Given the description of an element on the screen output the (x, y) to click on. 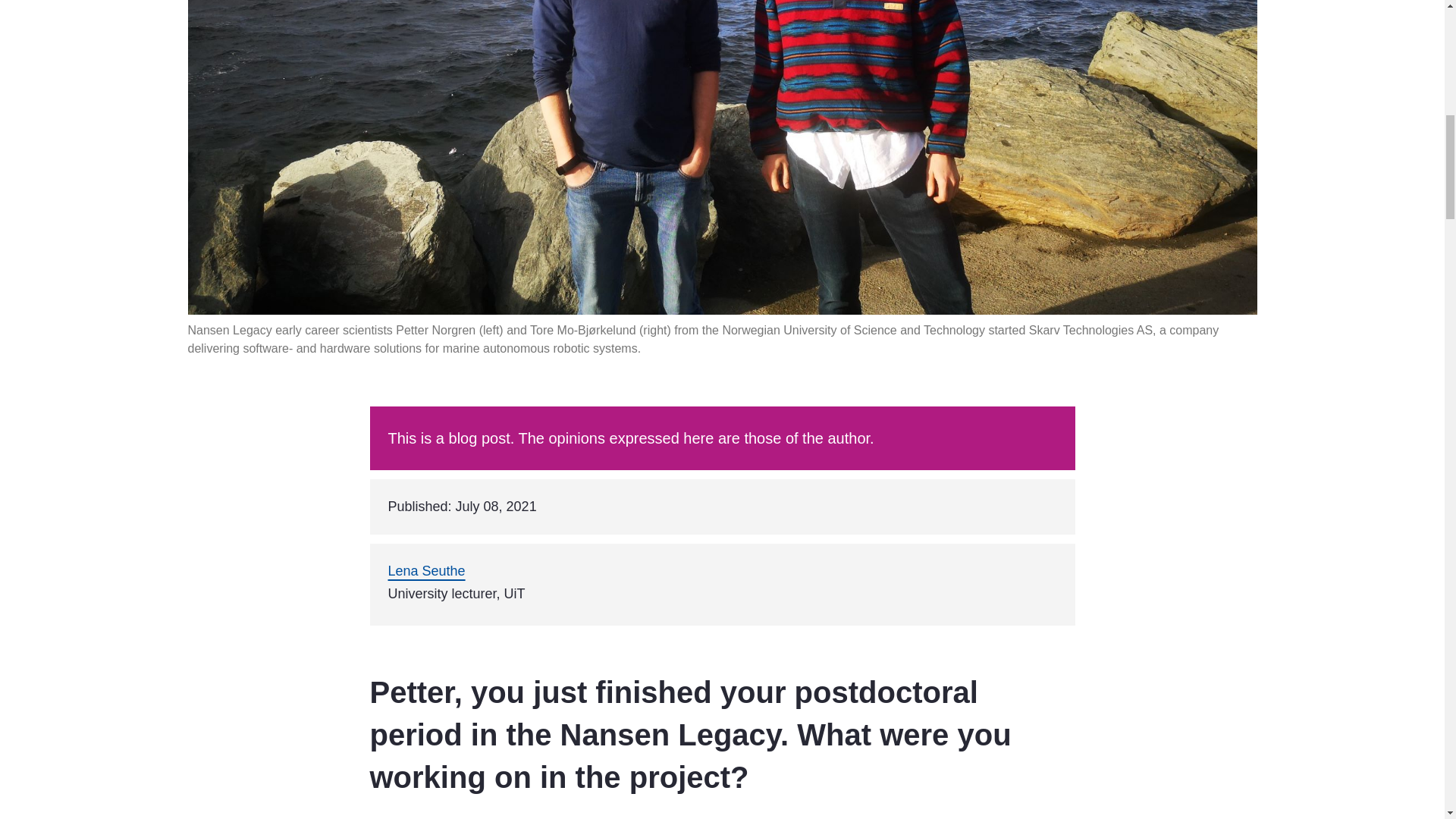
Read more about the author (426, 570)
Lena Seuthe (426, 570)
